Given the description of an element on the screen output the (x, y) to click on. 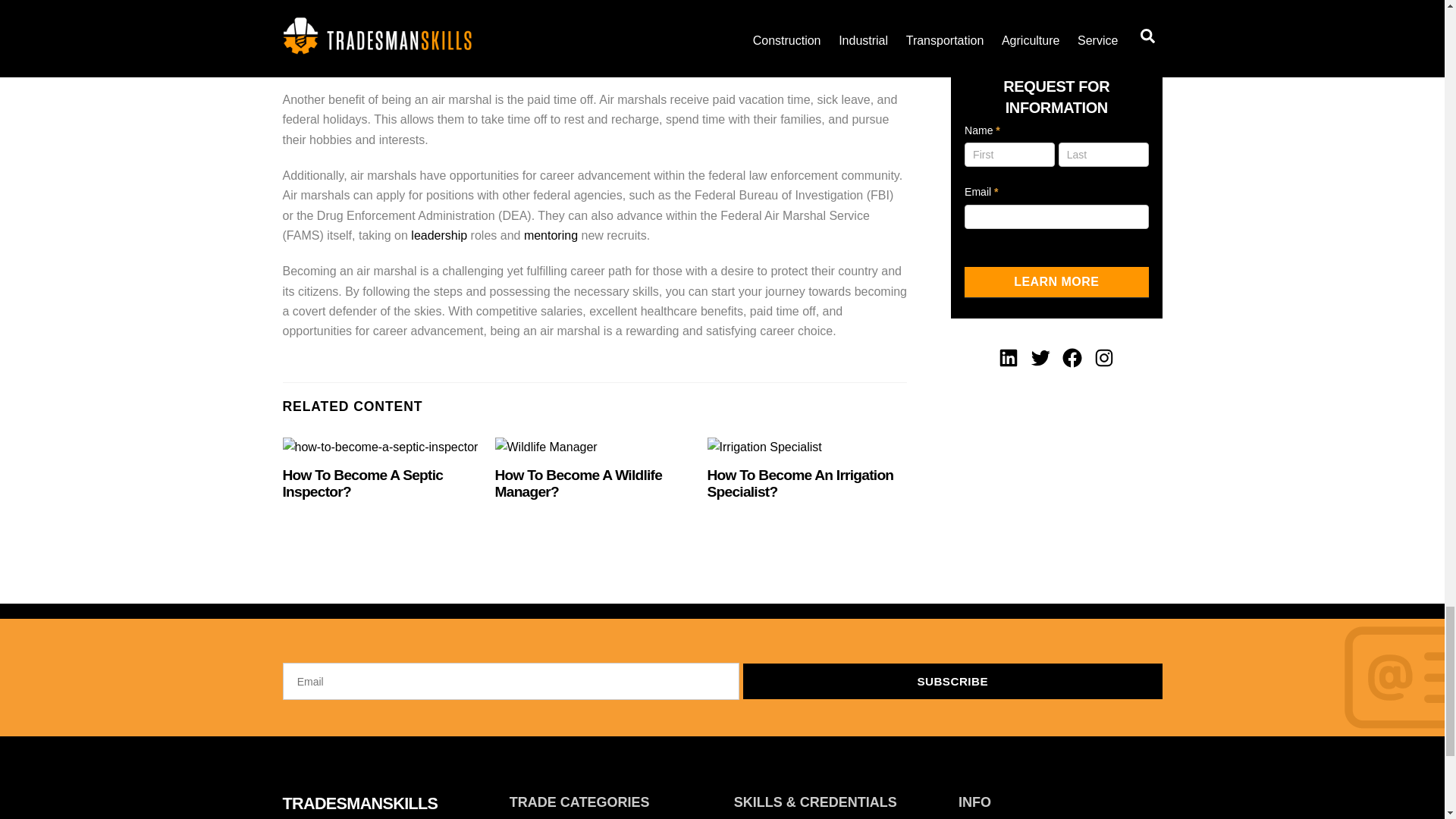
How To Become A Wildlife Manager? (578, 482)
How To Become An Irrigation Specialist? (800, 482)
leadership (438, 235)
TradesmanSkills (360, 803)
irrigation specialist (764, 447)
how-to-become-a-septic-inspector (379, 447)
SUBSCRIBE (951, 681)
mentoring (551, 235)
How To Become A Septic Inspector? (362, 482)
wildlife manager (545, 447)
TRADESMANSKILLS (360, 803)
